Given the description of an element on the screen output the (x, y) to click on. 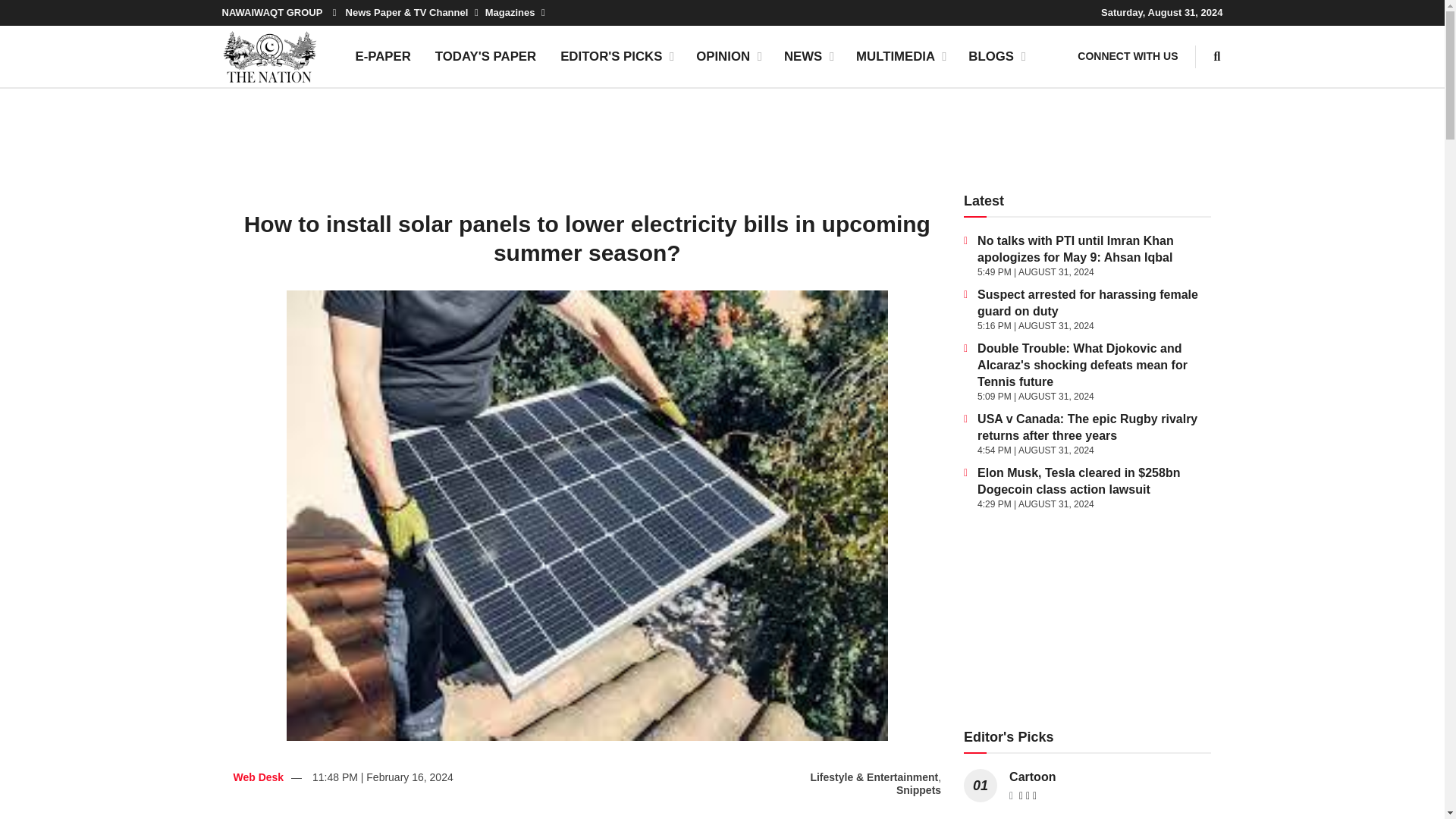
E-PAPER (382, 55)
TODAY'S PAPER (485, 55)
Magazines (513, 12)
MULTIMEDIA (900, 55)
NEWS (807, 55)
OPINION (727, 55)
EDITOR'S PICKS (616, 55)
BLOGS (995, 55)
